Given the description of an element on the screen output the (x, y) to click on. 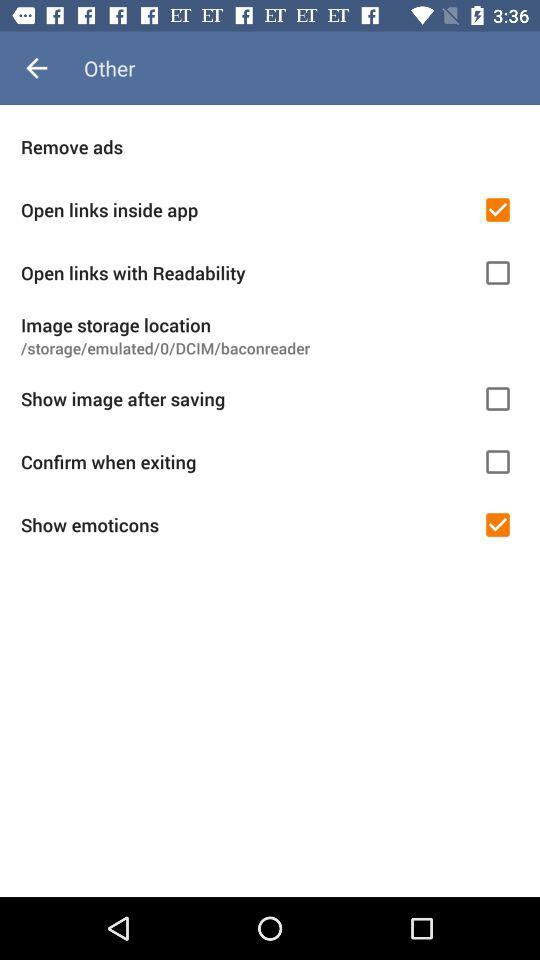
scroll to the storage emulated 0 item (270, 347)
